Given the description of an element on the screen output the (x, y) to click on. 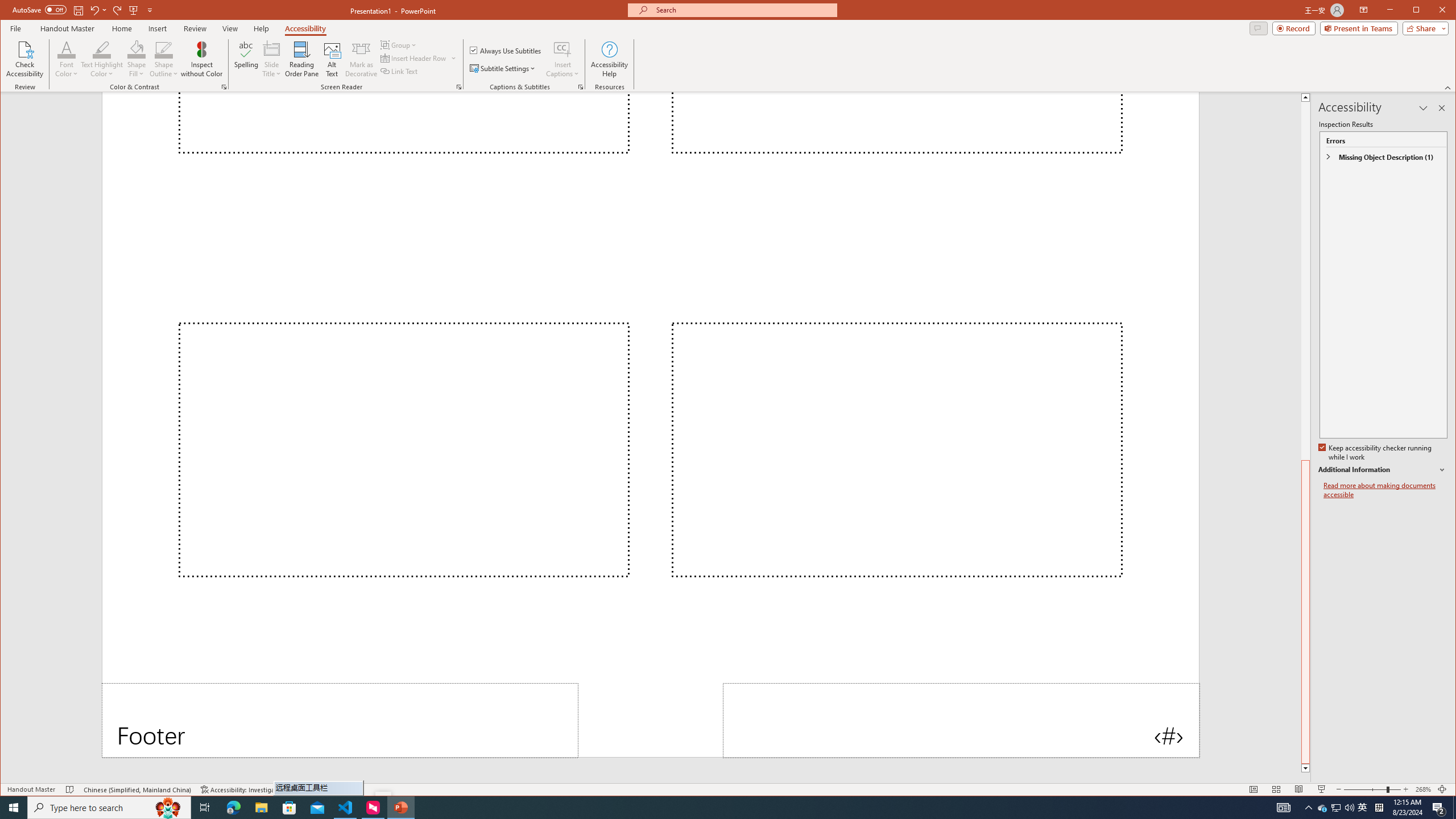
Reading View (1298, 789)
Save (77, 9)
Reading Order Pane (301, 59)
Maximize (1432, 11)
Read more about making documents accessible (1385, 489)
Record (1294, 28)
Shape Fill Orange, Accent 2 (136, 48)
Keep accessibility checker running while I work (1375, 452)
Search highlights icon opens search home window (167, 807)
Visual Studio Code - 1 running window (345, 807)
Minimize (1419, 11)
Spell Check No Errors (70, 789)
Shape Fill (136, 59)
Type here to search (108, 807)
